Given the description of an element on the screen output the (x, y) to click on. 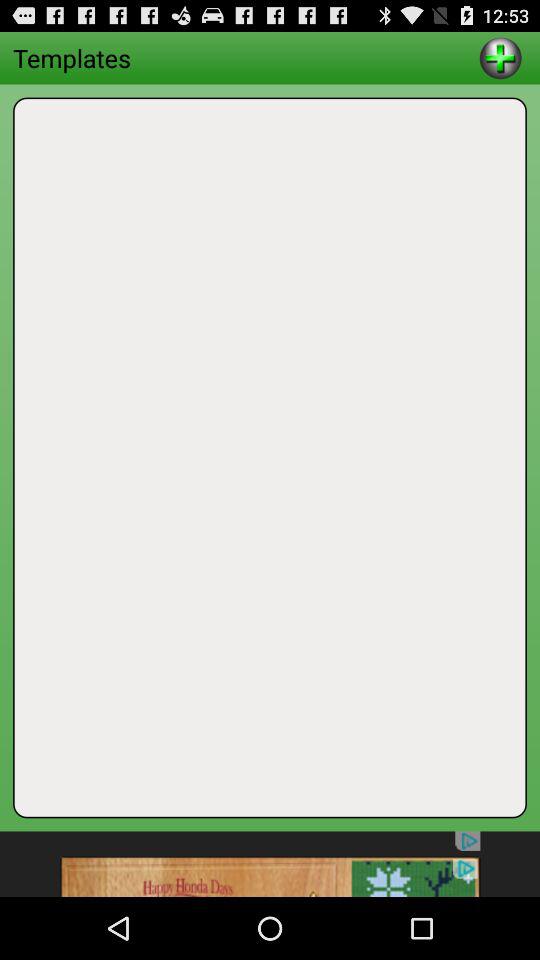
advertisement (270, 864)
